Given the description of an element on the screen output the (x, y) to click on. 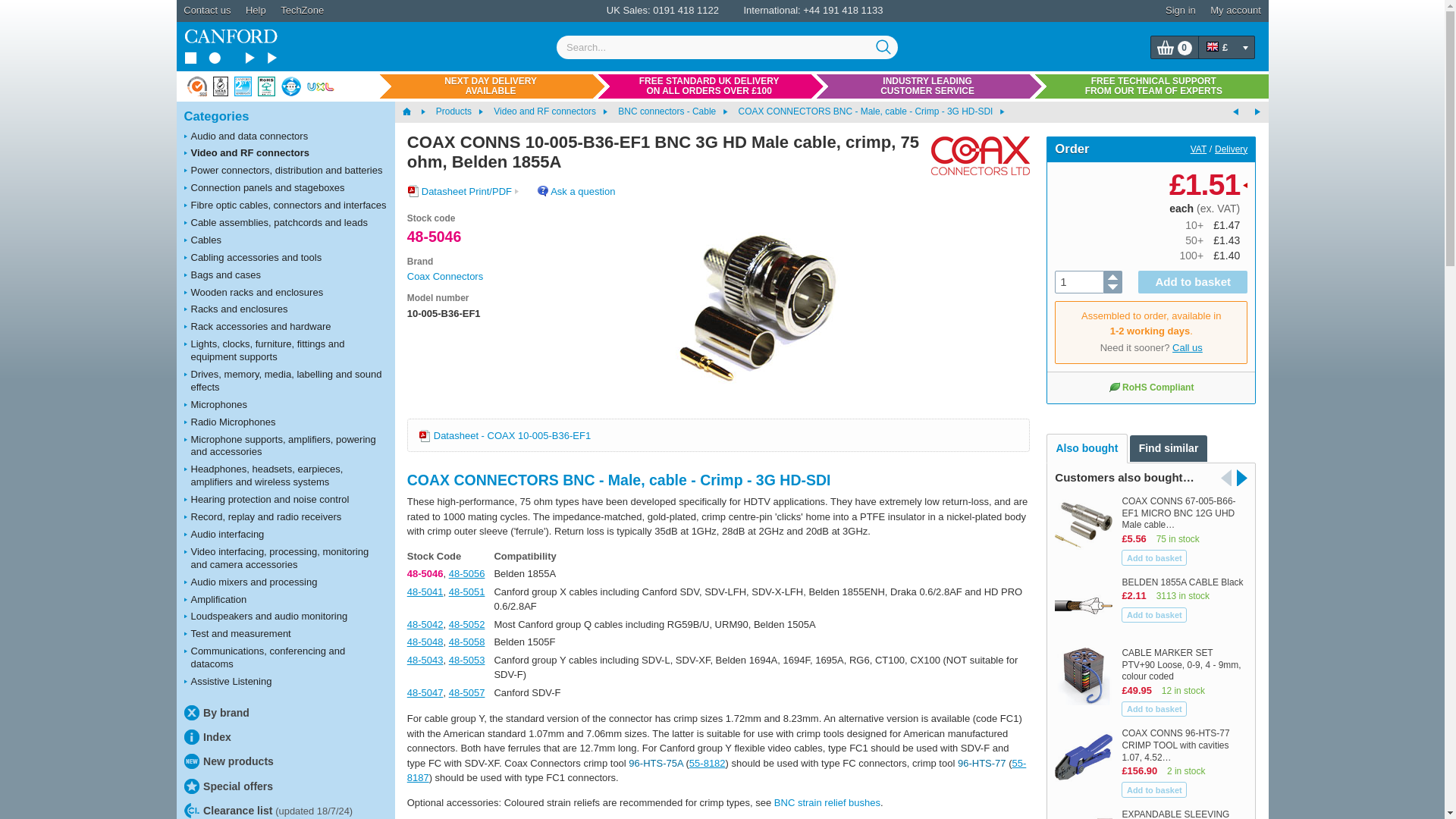
0 (1174, 47)
Coax Connectors (974, 155)
International: (770, 9)
Help (255, 11)
1 (1078, 282)
Sign in (1179, 11)
Radio Microphones (285, 422)
Drives, memory, media, labelling and sound effects (285, 381)
Rack accessories and hardware (285, 326)
TechZone (302, 11)
